Given the description of an element on the screen output the (x, y) to click on. 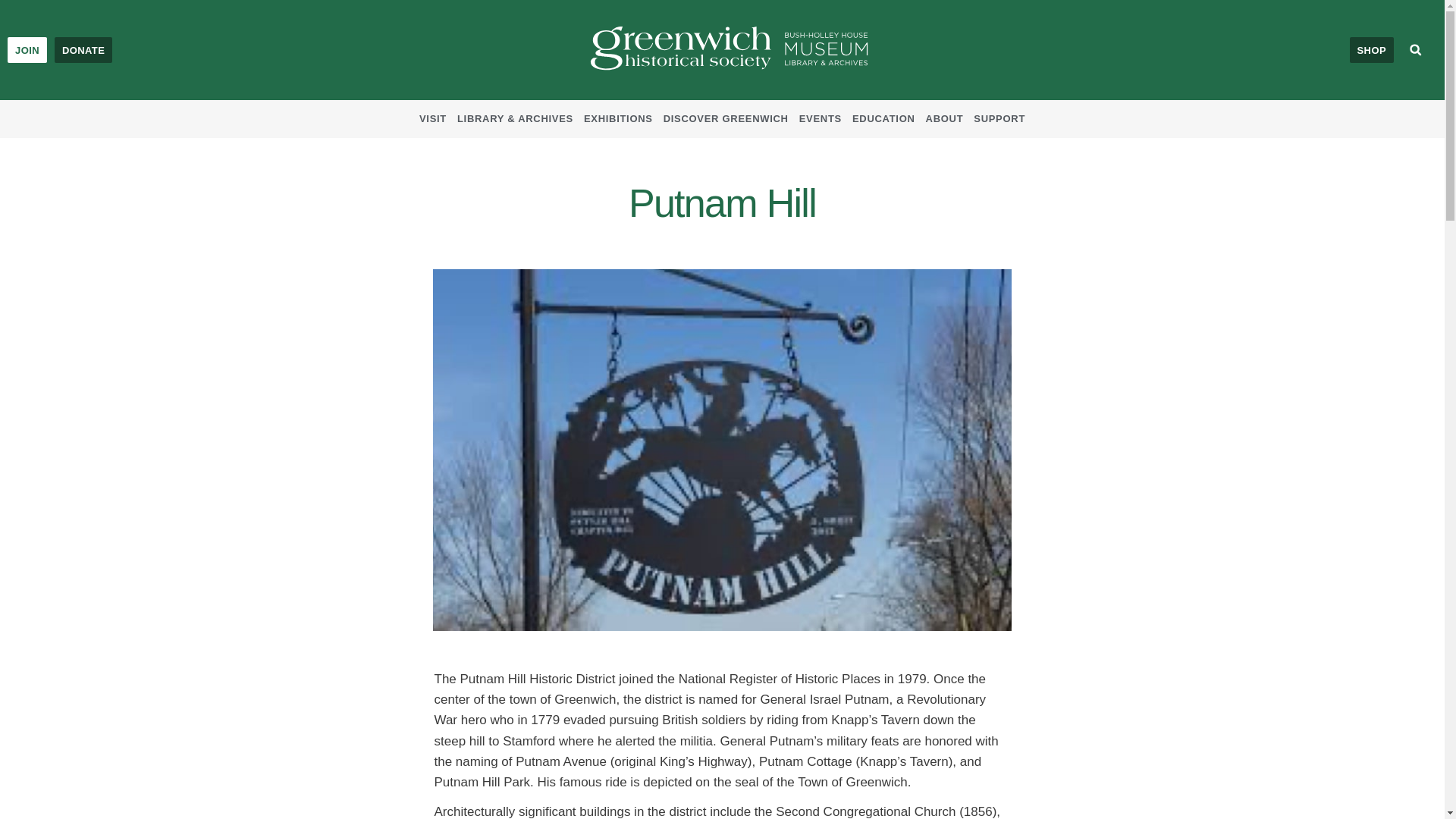
DISCOVER GREENWICH (726, 118)
VISIT (432, 118)
EXHIBITIONS (617, 118)
SHOP (1371, 49)
DONATE (83, 49)
JOIN (26, 49)
